Given the description of an element on the screen output the (x, y) to click on. 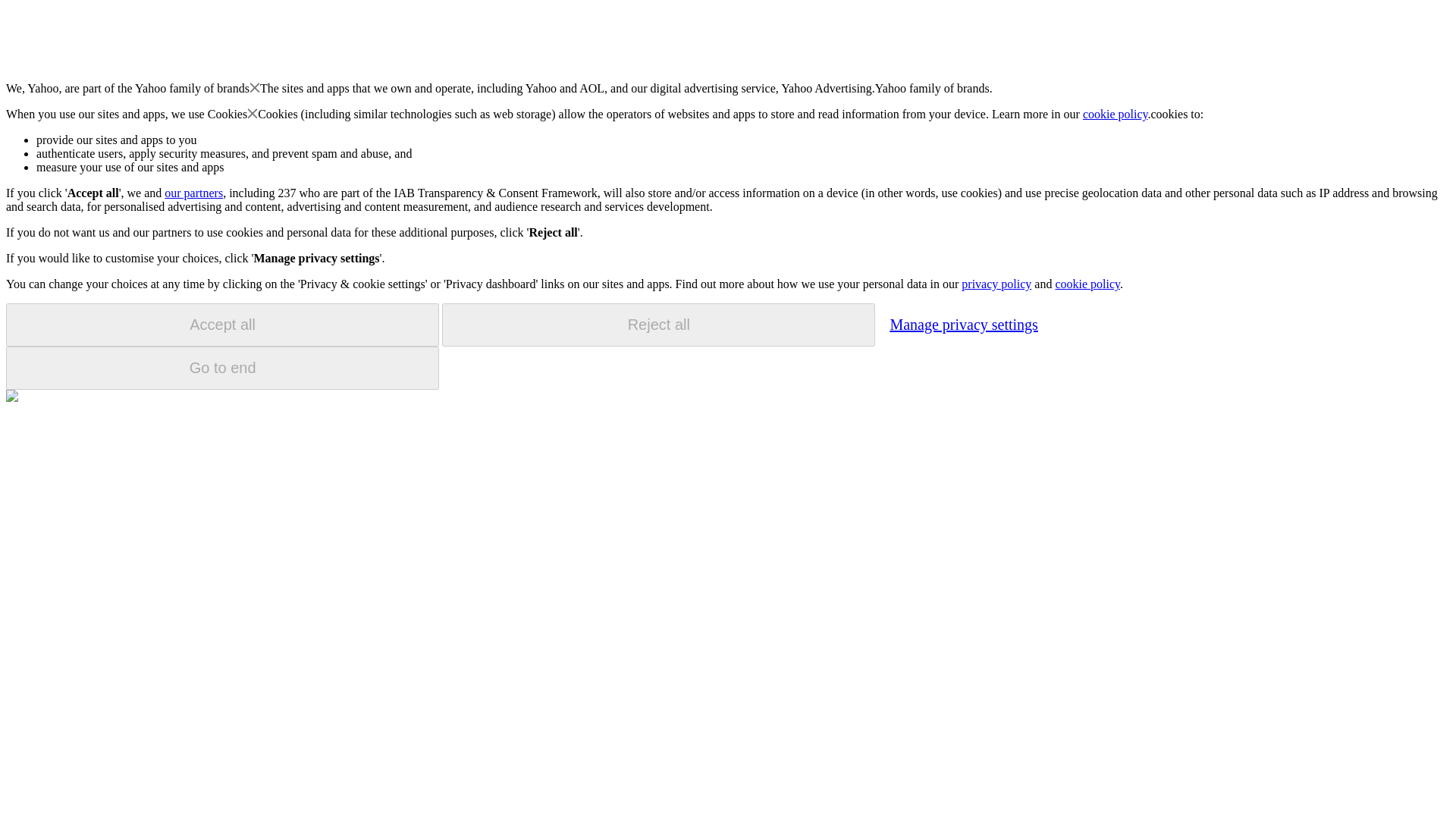
cookie policy (1115, 113)
Reject all (658, 324)
our partners (193, 192)
Accept all (222, 324)
cookie policy (1086, 283)
Go to end (222, 367)
Manage privacy settings (963, 323)
privacy policy (995, 283)
